Given the description of an element on the screen output the (x, y) to click on. 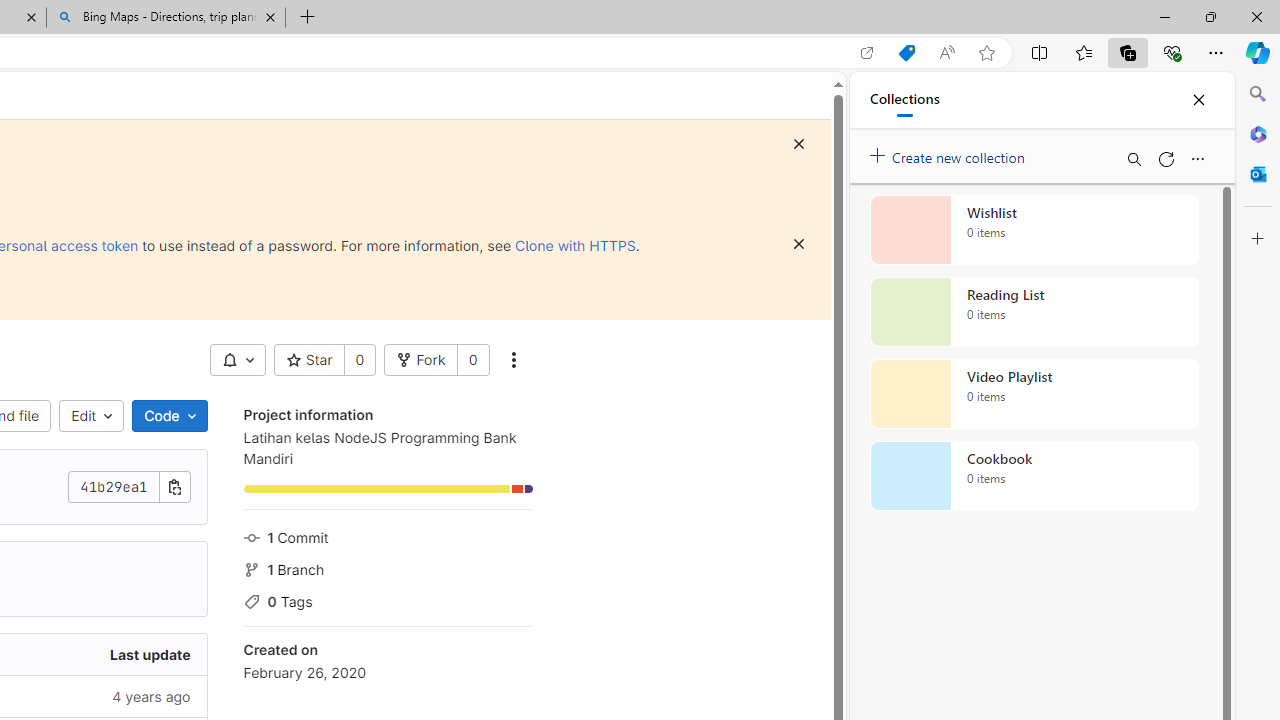
Wishlist collection, 0 items (1034, 229)
Read aloud this page (Ctrl+Shift+U) (946, 53)
Outlook (1258, 174)
1 Branch (387, 567)
1 Commit (387, 536)
Cookbook collection, 0 items (1034, 475)
0 Tags (387, 600)
Reading List collection, 0 items (1034, 312)
0 (472, 359)
Split screen (1039, 52)
Collections (1128, 52)
Minimize (1164, 16)
Open in app (867, 53)
Close tab (270, 16)
1 Branch (387, 567)
